Given the description of an element on the screen output the (x, y) to click on. 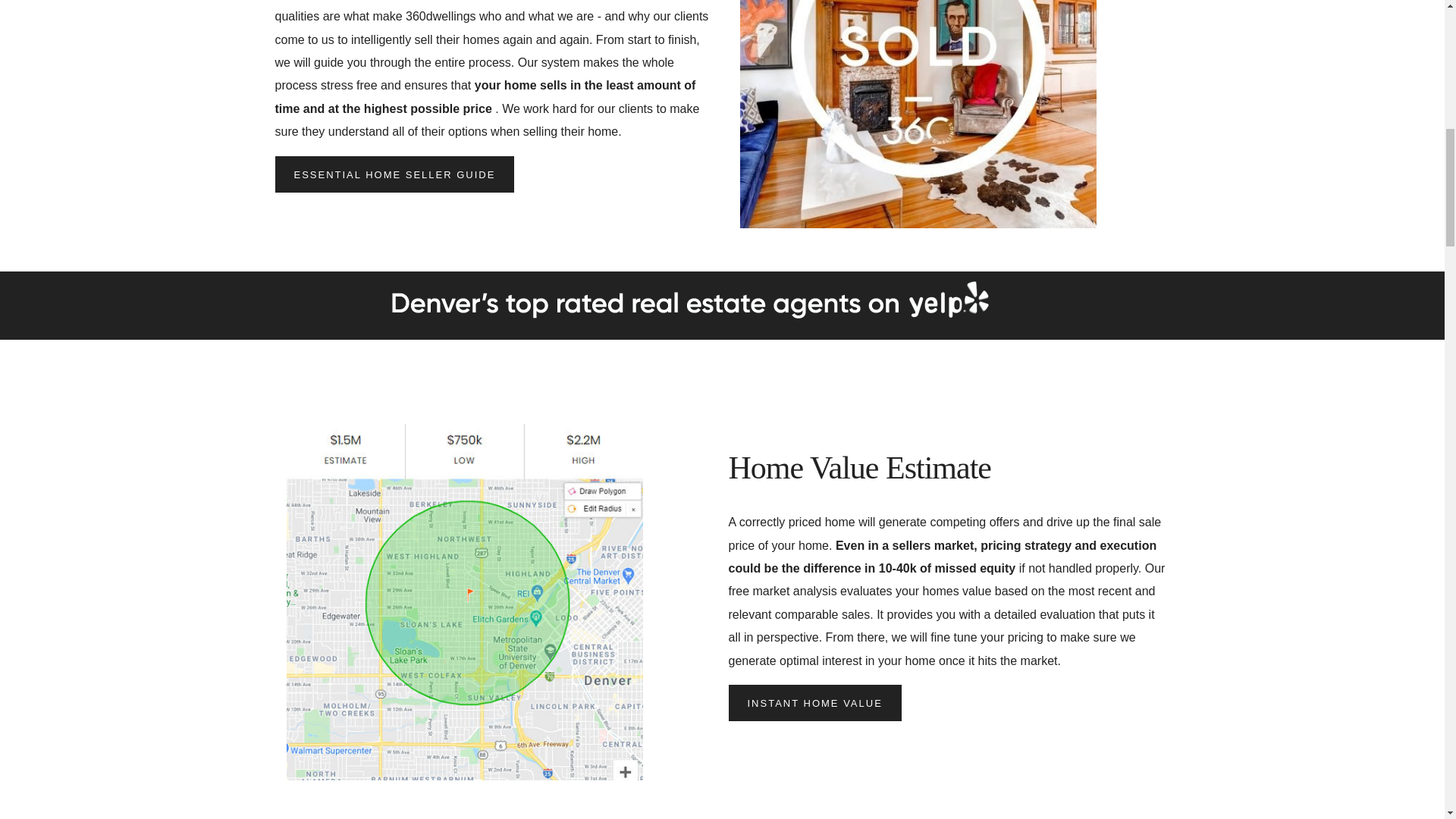
ESSENTIAL HOME SELLER GUIDE (394, 174)
INSTANT HOME VALUE (814, 702)
